Given the description of an element on the screen output the (x, y) to click on. 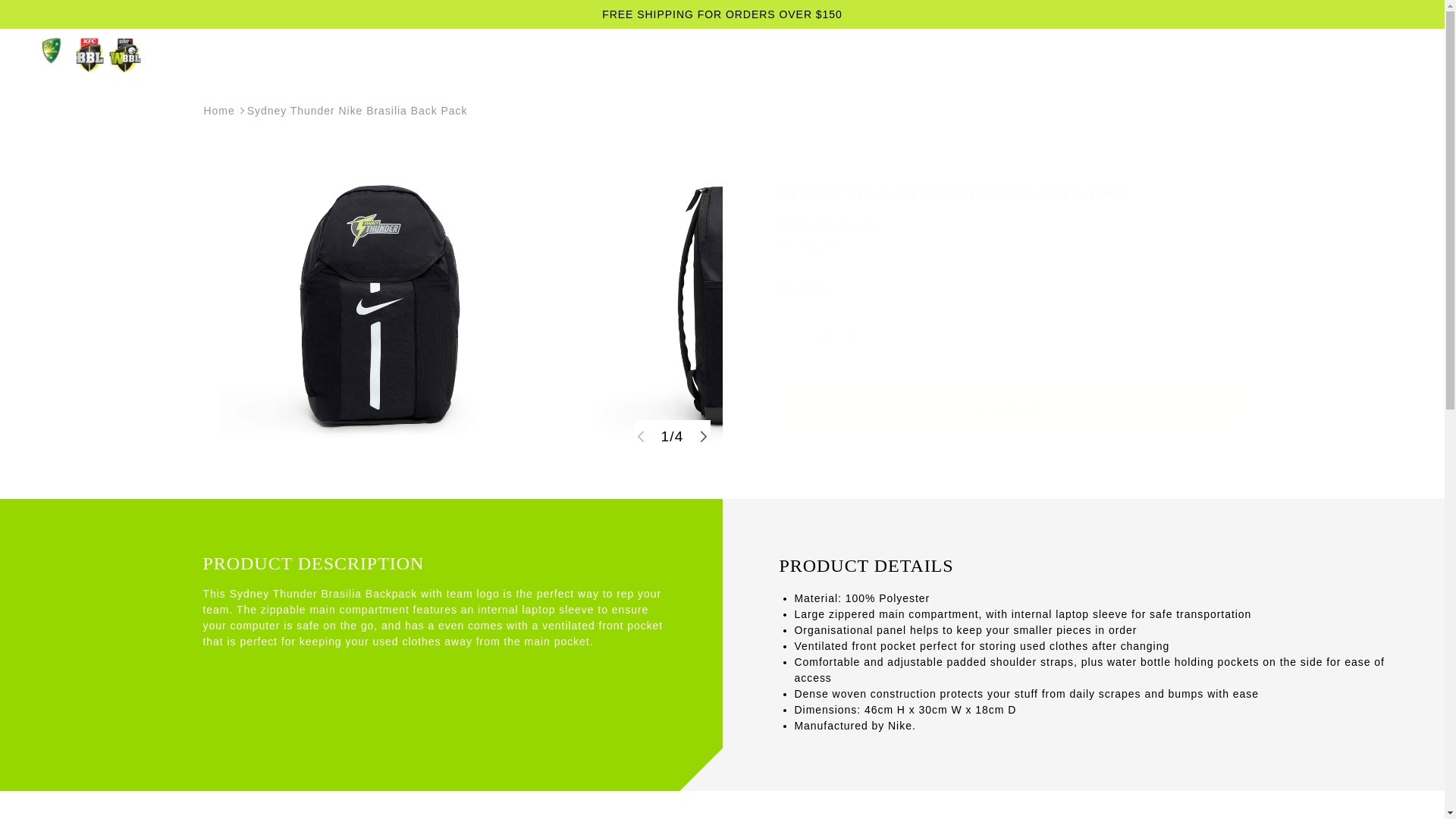
1 (823, 333)
Open media 3 in modal (1094, 304)
Open media 2 in modal (733, 304)
Skip to content (73, 24)
Open media 1 in modal (371, 304)
